Given the description of an element on the screen output the (x, y) to click on. 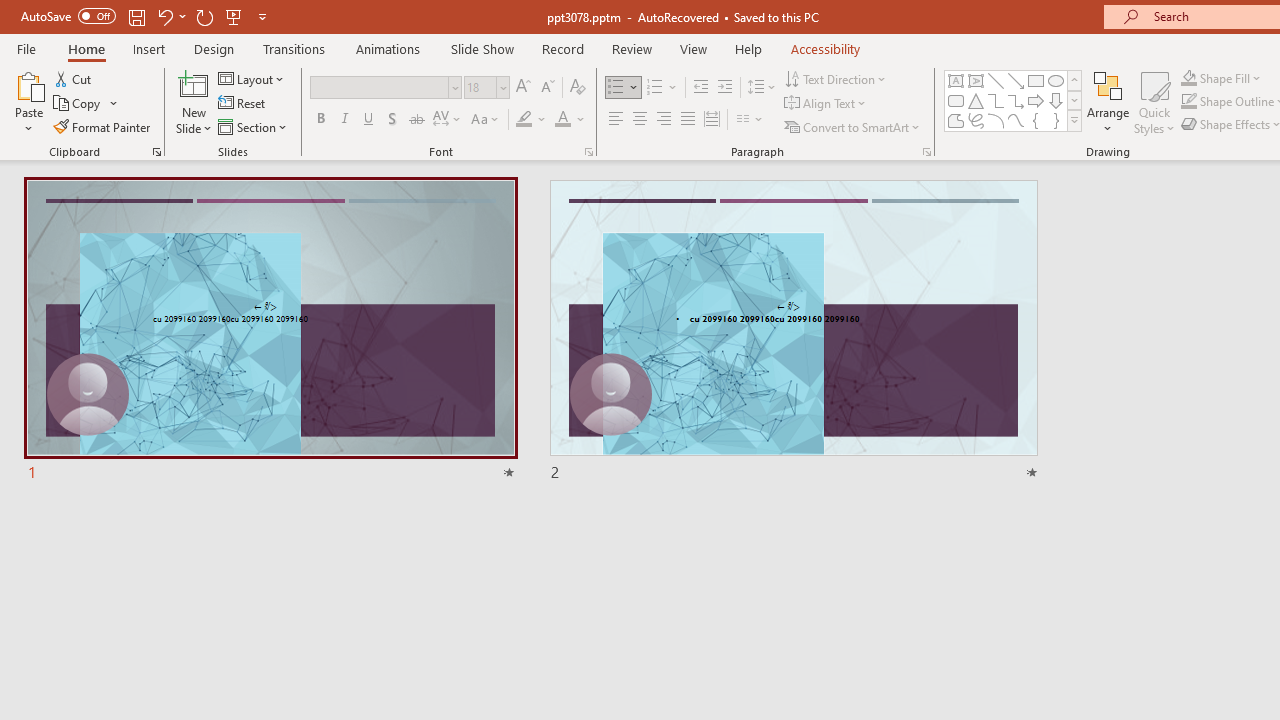
Font... (588, 151)
Increase Indent (725, 87)
Freeform: Scribble (975, 120)
Arrange (1108, 102)
Arc (995, 120)
Center (639, 119)
Shape Outline Green, Accent 1 (1188, 101)
Bullets (623, 87)
